Given the description of an element on the screen output the (x, y) to click on. 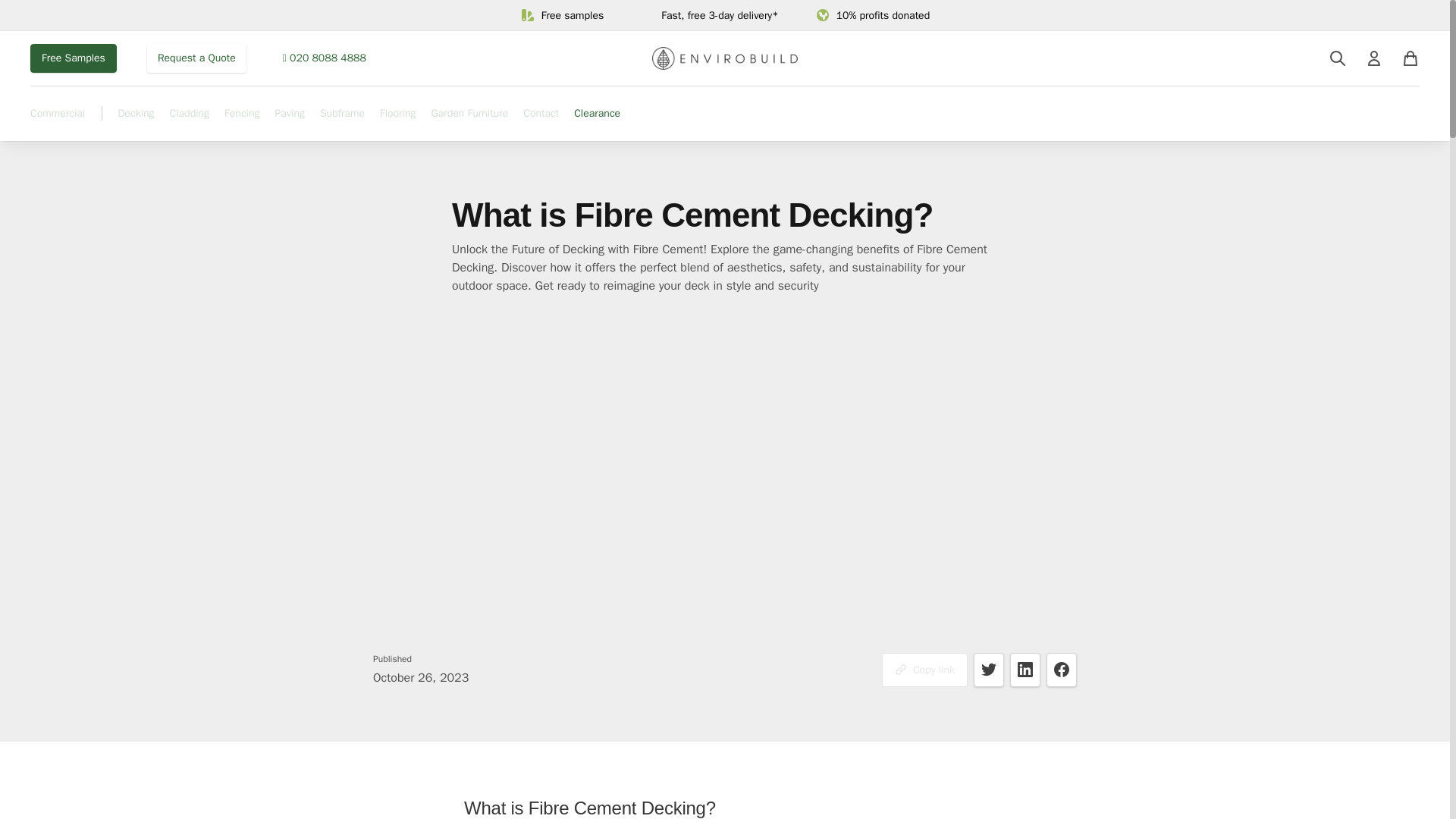
Paving (289, 113)
Fencing (241, 113)
Account (1374, 58)
Commercial (57, 113)
Search (1336, 58)
Cladding (189, 121)
Commercial (57, 121)
Flooring (398, 113)
Decking (135, 121)
Decking (135, 113)
